Given the description of an element on the screen output the (x, y) to click on. 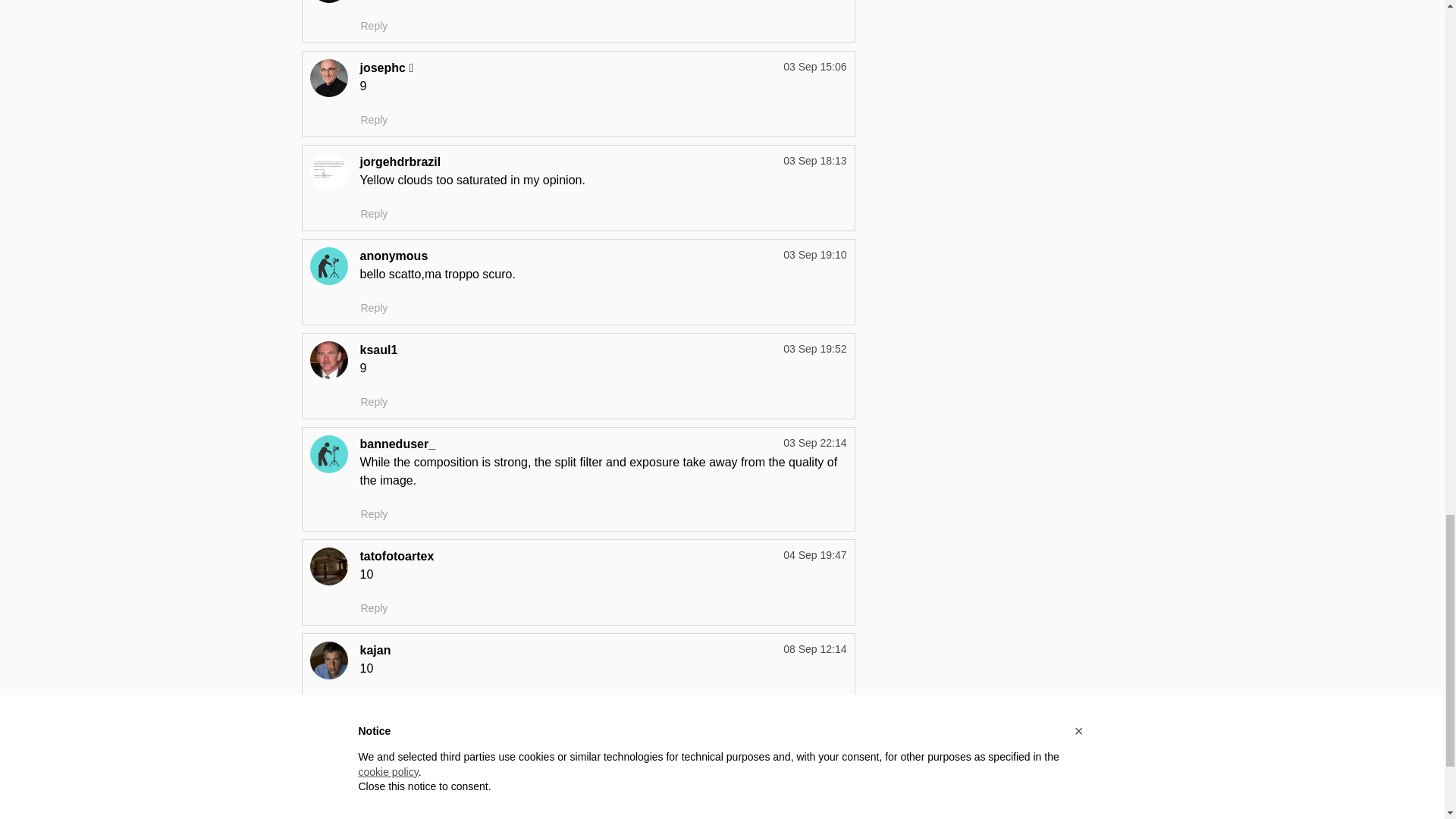
Reply (373, 119)
Reply (373, 213)
Reply (373, 26)
